Given the description of an element on the screen output the (x, y) to click on. 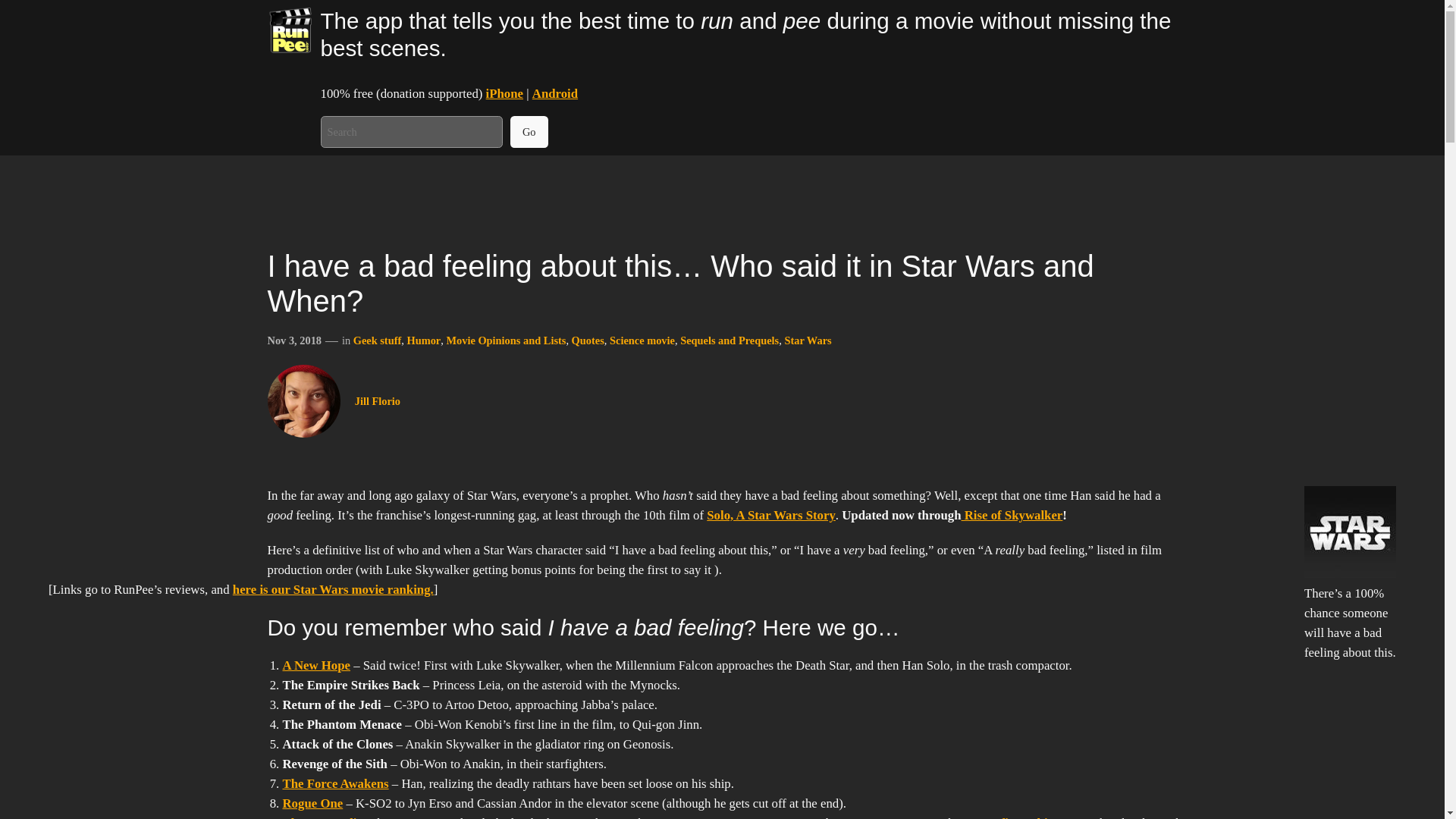
Geek stuff (377, 340)
here is our Star Wars movie ranking. (332, 589)
Movie Opinions and Lists (505, 340)
Android (555, 93)
Nov 3, 2018 (293, 340)
confirms this (1016, 817)
Jill Florio (377, 400)
Quotes (588, 340)
The Force Awakens (335, 783)
Humor (423, 340)
Star Wars (807, 340)
Rise of Skywalker (1011, 514)
Rogue One (312, 803)
iPhone (504, 93)
Solo, A Star Wars Story (770, 514)
